Given the description of an element on the screen output the (x, y) to click on. 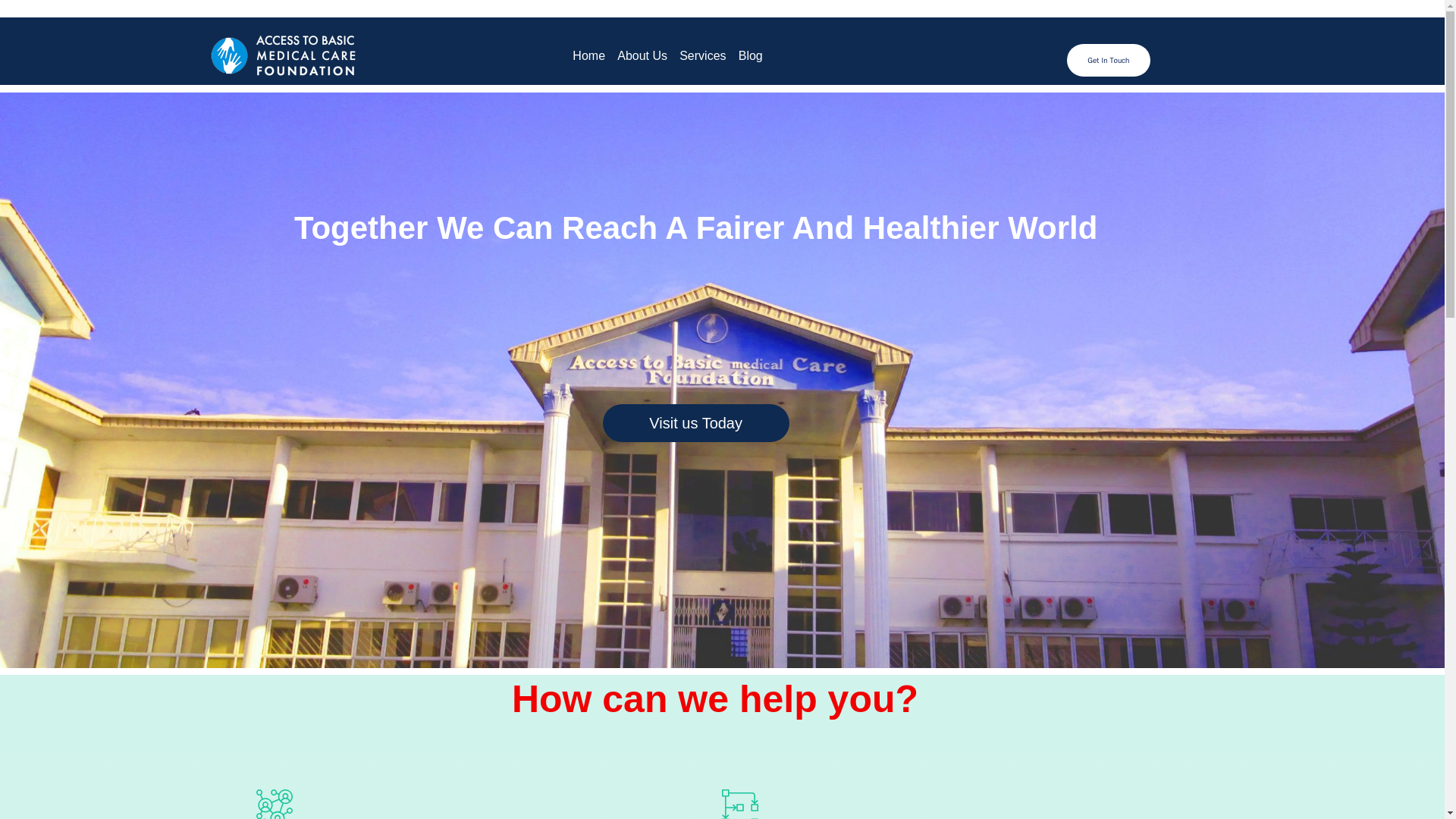
About Us (641, 55)
Visit us Today (695, 423)
Visit us Today (695, 423)
Services (702, 55)
Get In Touch (1109, 58)
Get In Touch (1109, 60)
